Given the description of an element on the screen output the (x, y) to click on. 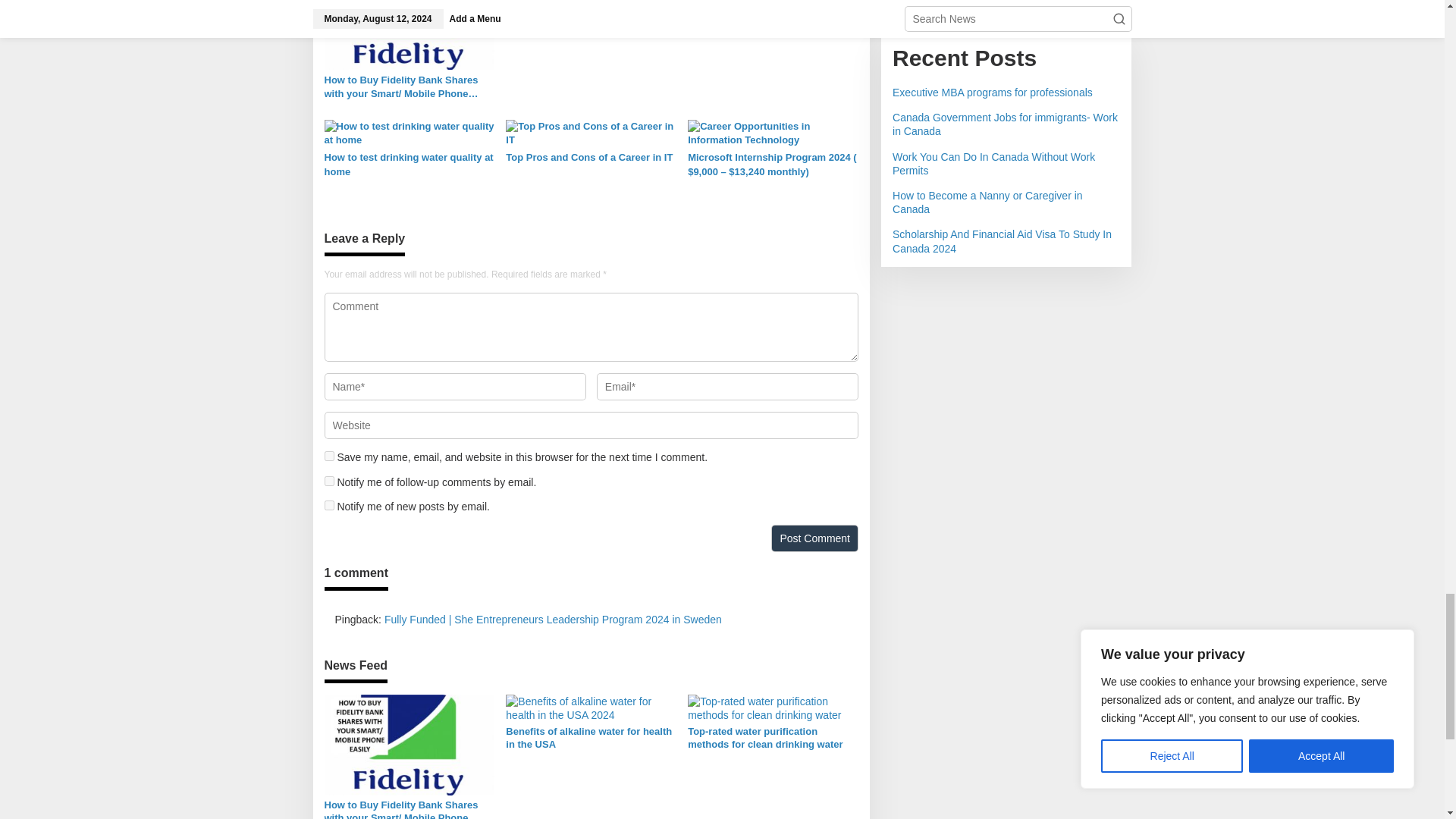
Post Comment (815, 538)
yes (329, 456)
subscribe (329, 480)
subscribe (329, 505)
